Given the description of an element on the screen output the (x, y) to click on. 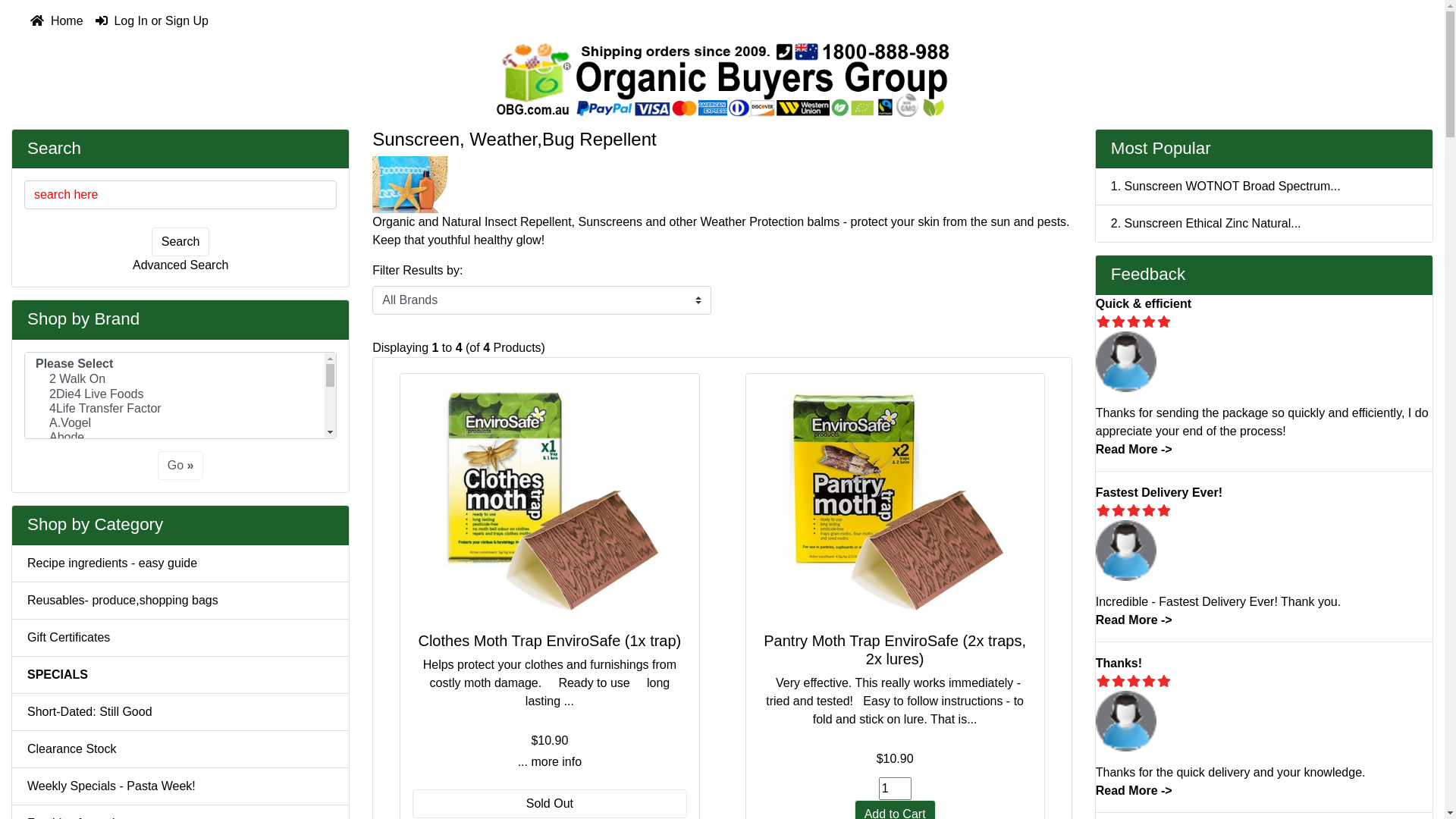
Thanks! Element type: hover (1125, 720)
Reusables- produce,shopping bags Element type: text (180, 600)
1. Sunscreen WOTNOT Broad Spectrum... Element type: text (1263, 186)
Read More -> Element type: text (1133, 619)
Clothes Moth Trap EnviroSafe (1x trap) Element type: text (548, 640)
Quick & efficient Element type: hover (1125, 361)
Sold Out Element type: text (549, 803)
Fastest Delivery Ever! Element type: text (1158, 492)
Read More -> Element type: text (1133, 448)
... more info Element type: text (549, 762)
Quick & efficient Element type: text (1143, 303)
Pantry Moth Trap EnviroSafe (2x traps, 2x lures) Element type: text (894, 649)
Pantry Moth Trap EnviroSafe (2x traps, 2x lures) Element type: hover (894, 499)
Search Element type: text (54, 147)
Thanks! Element type: text (1118, 662)
 Log In or Sign Up Element type: text (151, 21)
Shop by Brand Element type: text (83, 318)
Clothes Moth Trap EnviroSafe (1x trap) Element type: hover (549, 499)
Short-Dated: Still Good Element type: text (180, 712)
Advanced Search Element type: text (180, 264)
Recipe ingredients - easy guide Element type: text (180, 563)
Read More -> Element type: text (1133, 790)
Pantry Moth Trap EnviroSafe (2x traps, 2x lures) Element type: hover (895, 499)
 Home Element type: text (56, 21)
Clearance Stock Element type: text (180, 749)
Fastest Delivery Ever! Element type: hover (1125, 550)
Gift Certificates Element type: text (180, 637)
Search Element type: text (180, 241)
Weekly Specials - Pasta Week! Element type: text (180, 786)
Shop by Category Element type: text (95, 523)
Clothes Moth Trap EnviroSafe (1x trap) Element type: hover (549, 499)
2. Sunscreen Ethical Zinc Natural... Element type: text (1263, 223)
